Given the description of an element on the screen output the (x, y) to click on. 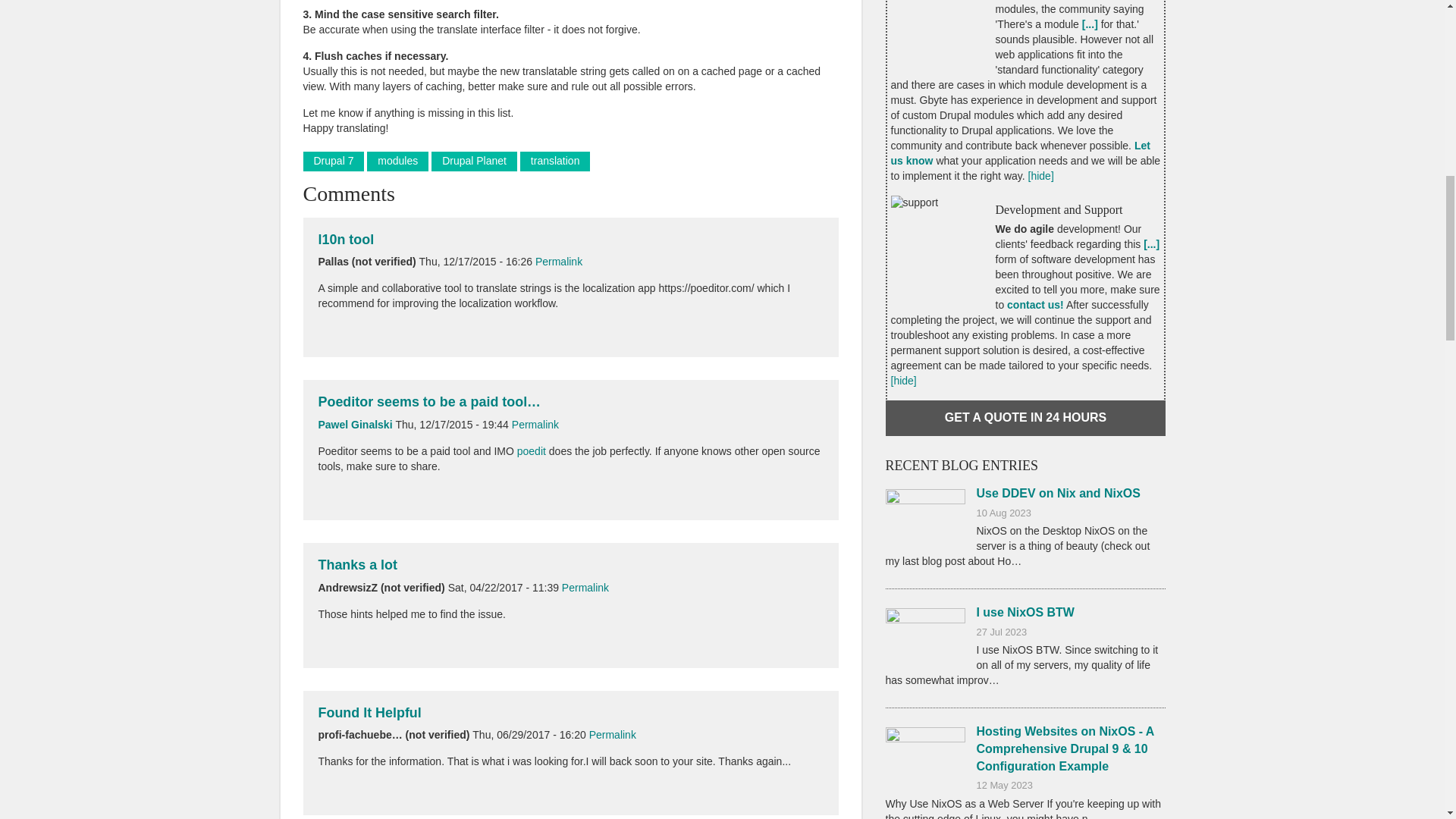
View user profile. (355, 424)
Thanks a lot (357, 564)
expand... (1089, 24)
poedit (531, 451)
Pawel Ginalski (355, 424)
l10n tool (346, 239)
show less... (902, 380)
translation (555, 161)
Permalink (612, 734)
Found It Helpful (370, 712)
